Given the description of an element on the screen output the (x, y) to click on. 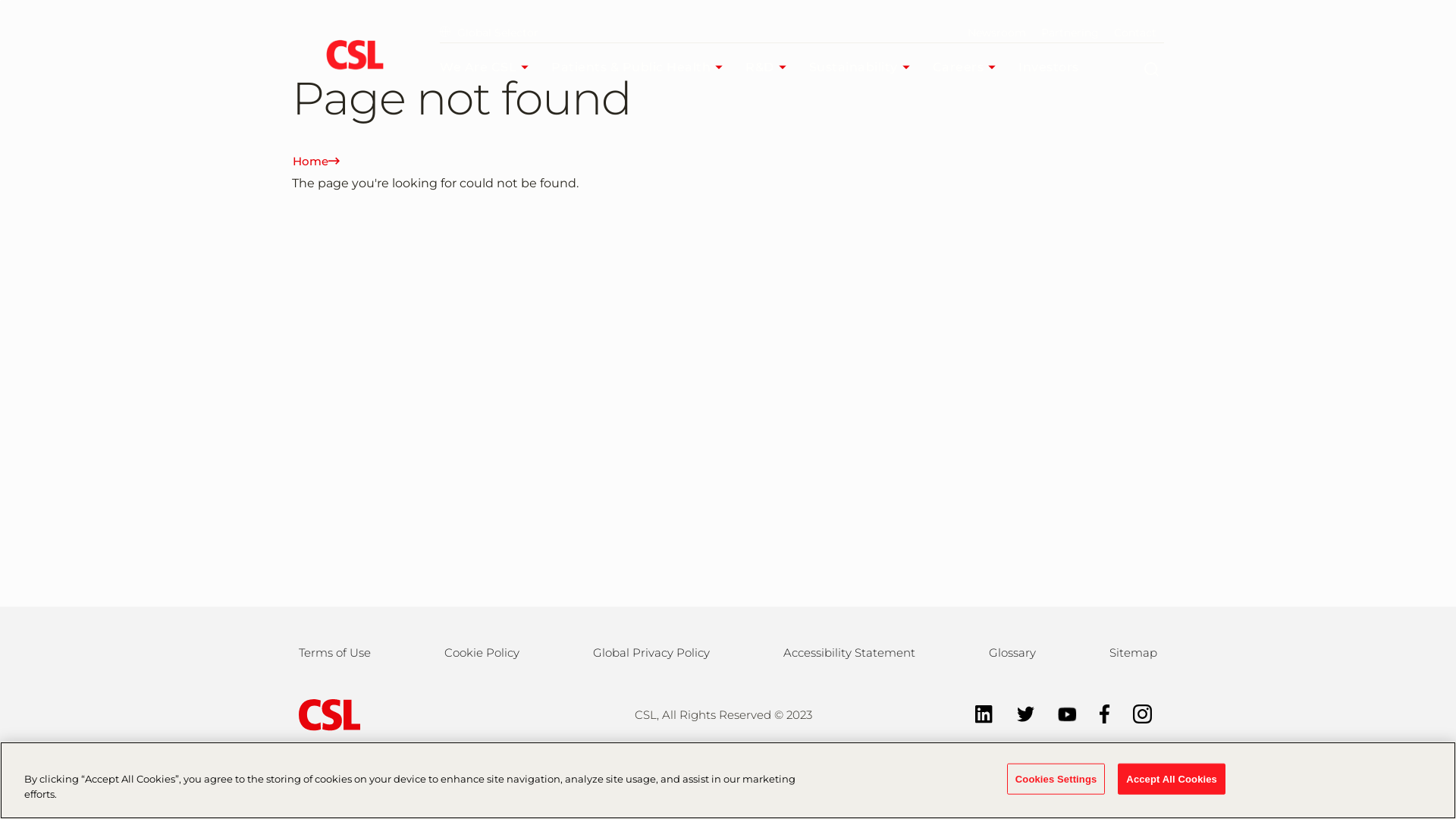
We Are CSL Element type: text (487, 67)
Cookie Policy Element type: text (481, 652)
Patients & Public Health Element type: text (640, 67)
Terms of Use Element type: text (334, 652)
Global Selector Element type: text (488, 32)
Accept All Cookies Element type: text (1171, 779)
Glossary Element type: text (1012, 652)
Contact Element type: text (1134, 32)
R&D Element type: text (769, 67)
Accessibility Statement Element type: text (848, 652)
Careers Element type: text (968, 67)
Partnering Element type: text (1069, 32)
Global Privacy Policy Element type: text (651, 652)
Investors Element type: text (1058, 67)
Home Element type: text (317, 161)
Cookies Settings Element type: text (1056, 779)
Sustainability Element type: text (862, 67)
Sitemap Element type: text (1132, 652)
Skip to main content Element type: text (0, 0)
Newsroom Element type: text (996, 32)
